Given the description of an element on the screen output the (x, y) to click on. 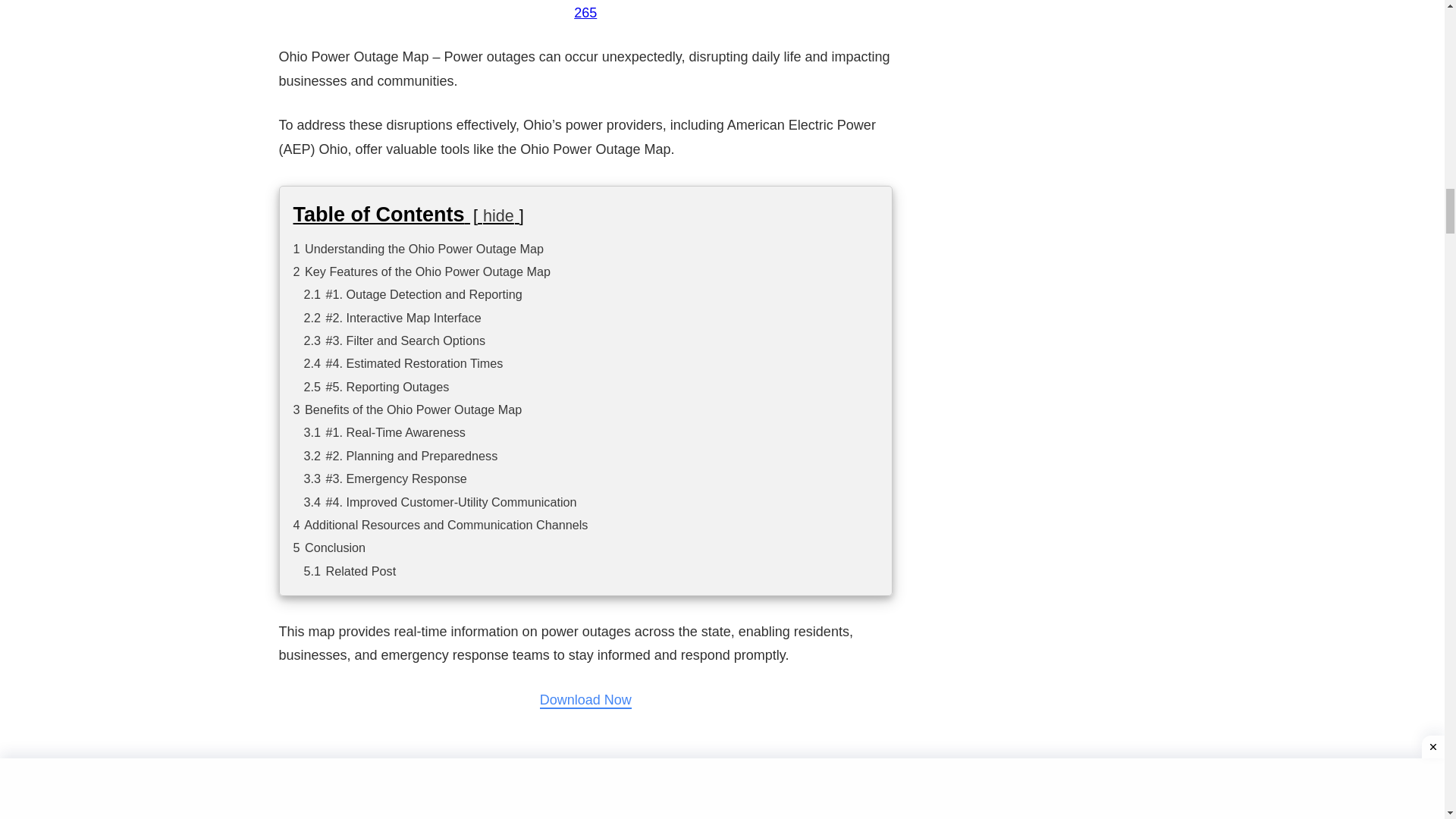
1 Understanding the Ohio Power Outage Map (417, 248)
hide (498, 215)
